Given the description of an element on the screen output the (x, y) to click on. 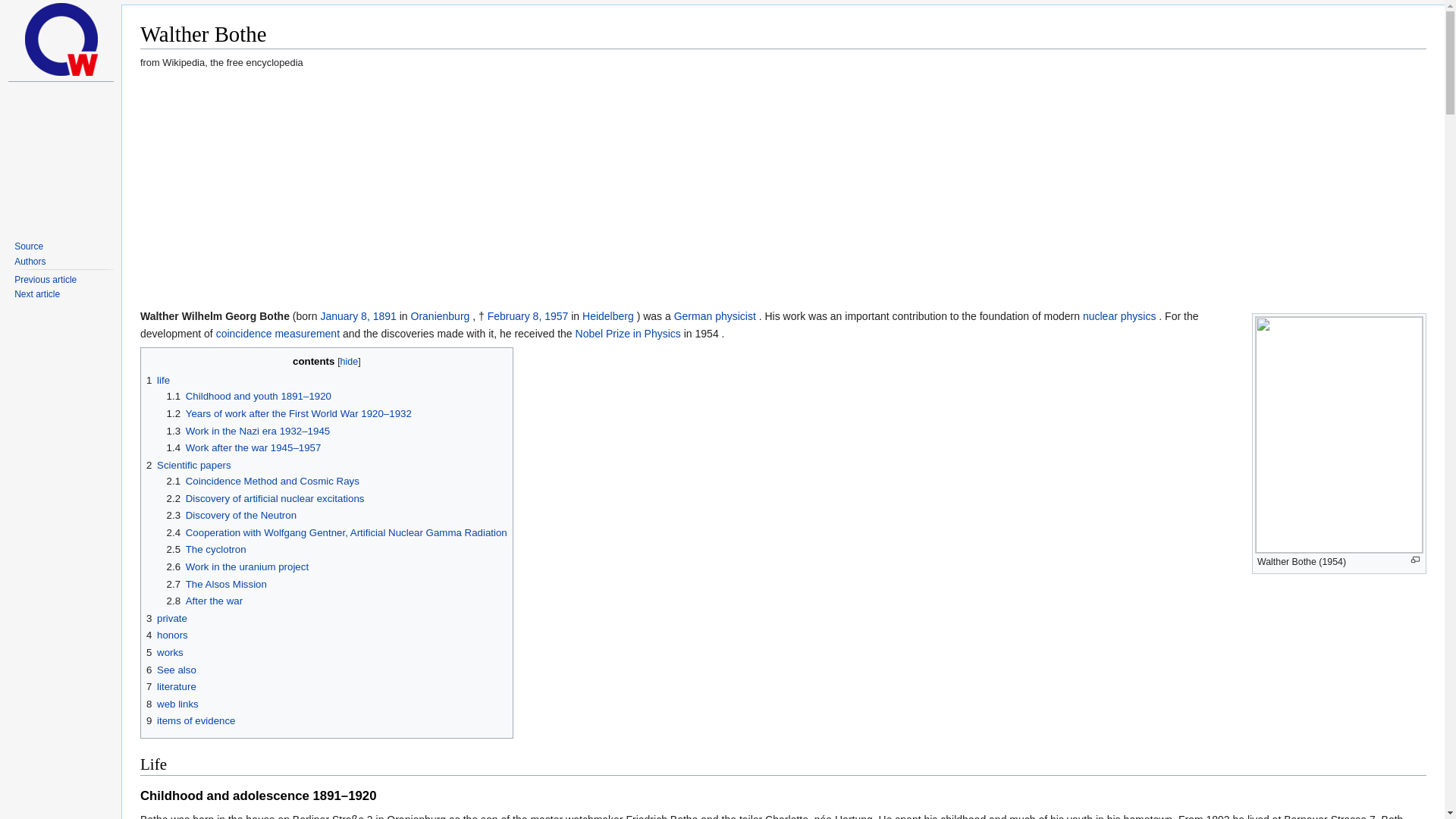
7 literature (171, 686)
Source (28, 245)
German (694, 316)
January 8, (346, 316)
1957 (555, 316)
2 Scientific papers (189, 464)
Nobel Price for physics (628, 333)
2.2 Discovery of artificial nuclear excitations (266, 498)
February 8, (515, 316)
nuclear physics (1119, 316)
and display information about the image (1415, 560)
2.8 After the war (205, 600)
physicist (734, 316)
